Given the description of an element on the screen output the (x, y) to click on. 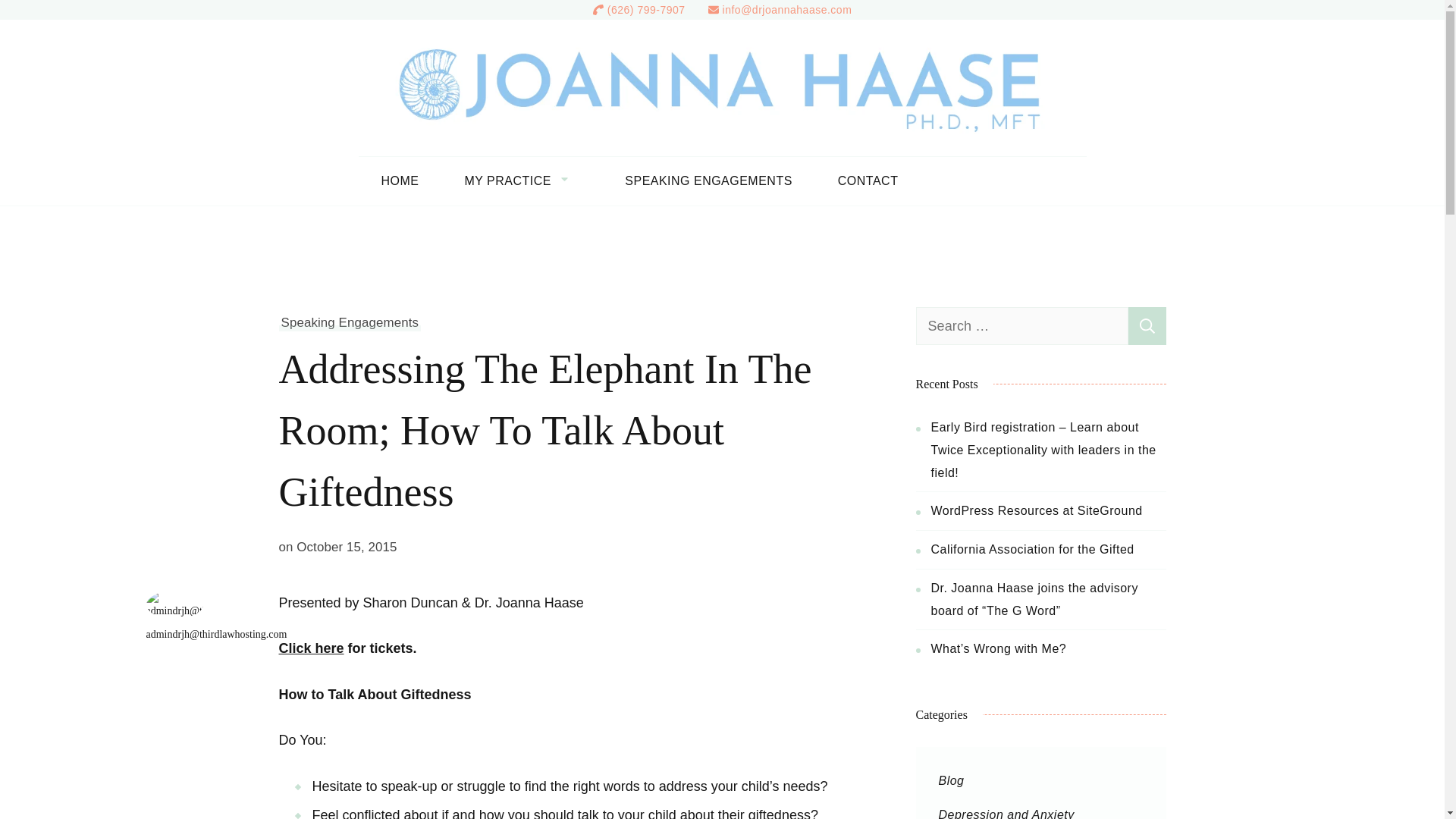
MY PRACTICE (521, 181)
CONTACT (868, 181)
October 15, 2015 (346, 547)
Speaking Engagements (350, 322)
Search (1147, 325)
Search (1147, 325)
HOME (399, 181)
Joanna Haase, PH.D., MFT (1188, 52)
SPEAKING ENGAGEMENTS (708, 181)
Click here (311, 648)
